Given the description of an element on the screen output the (x, y) to click on. 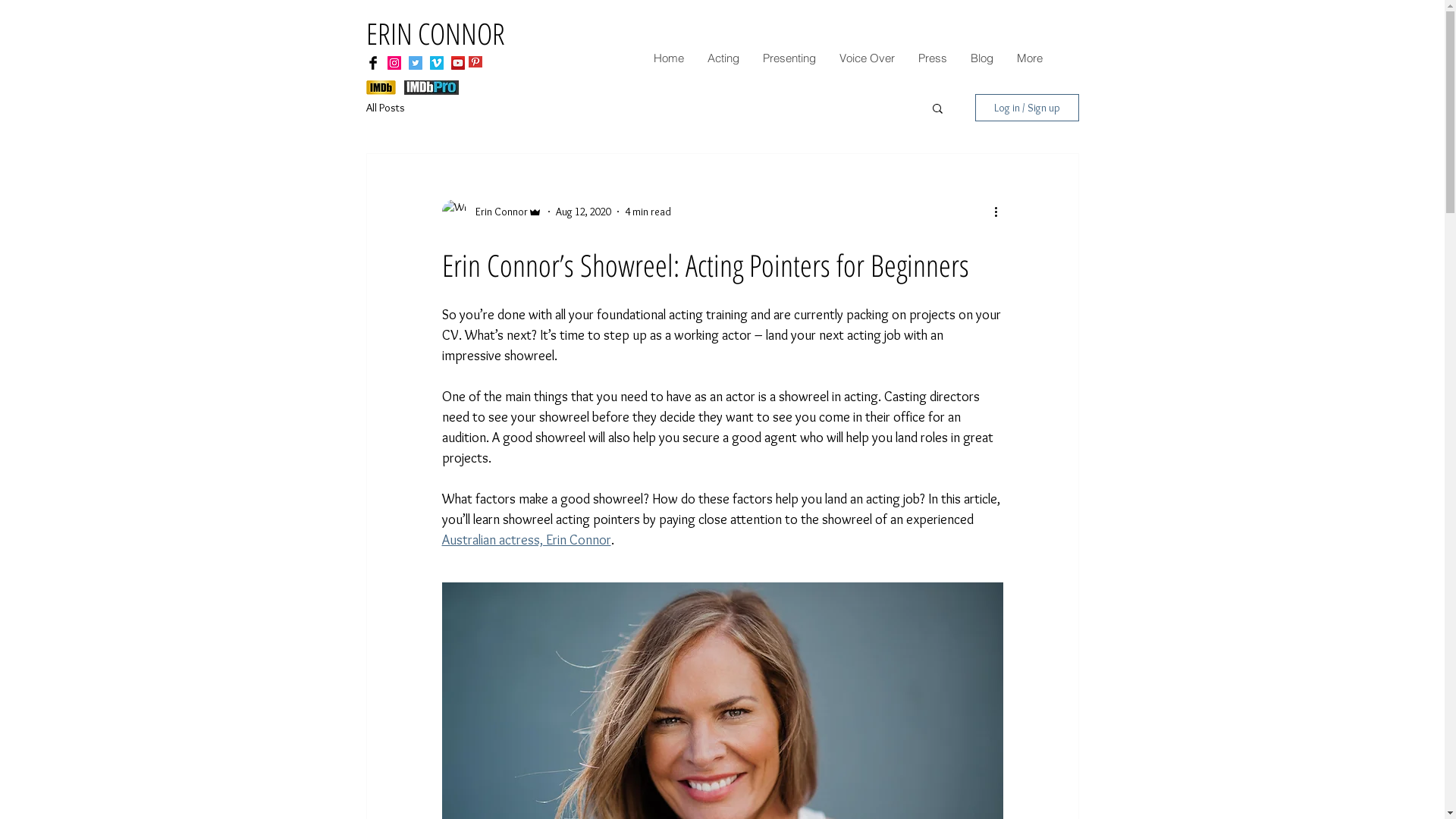
Voice Over Element type: text (865, 57)
Press Element type: text (931, 57)
All Posts Element type: text (384, 107)
Log in / Sign up Element type: text (1027, 107)
Australian actress, Erin Connor Element type: text (525, 539)
Presenting Element type: text (788, 57)
Home Element type: text (668, 57)
Acting Element type: text (721, 57)
Blog Element type: text (981, 57)
ERIN CONNOR Element type: text (434, 32)
